Given the description of an element on the screen output the (x, y) to click on. 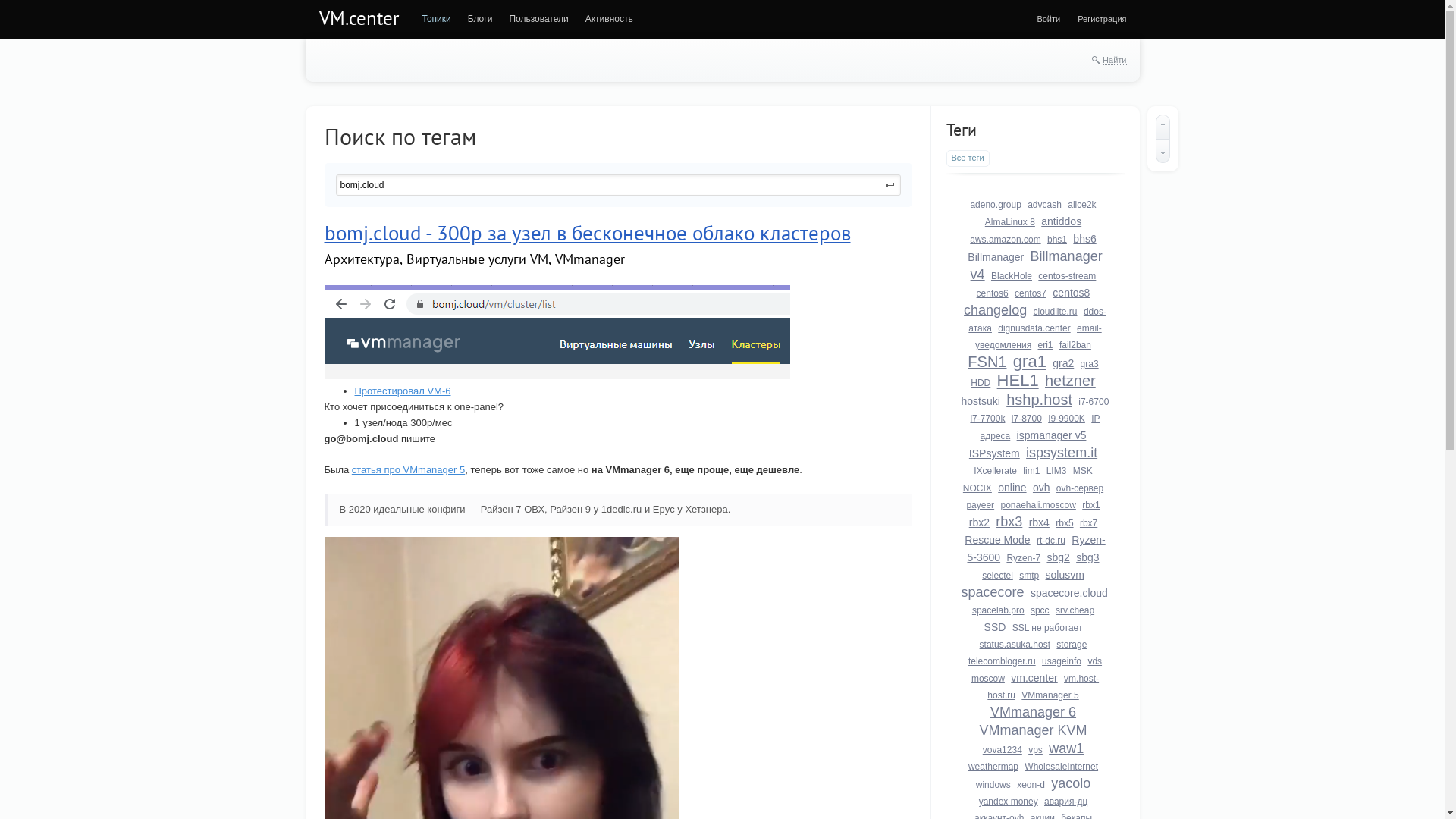
hostsuki Element type: text (980, 401)
hetzner Element type: text (1069, 380)
vps Element type: text (1035, 749)
vm.host-host.ru Element type: text (1042, 686)
rbx1 Element type: text (1090, 504)
vm.center Element type: text (1033, 677)
gra3 Element type: text (1089, 363)
rbx4 Element type: text (1039, 522)
selectel Element type: text (997, 575)
srv.cheap Element type: text (1074, 610)
centos8 Element type: text (1070, 292)
spacecore Element type: text (992, 591)
spacelab.pro Element type: text (998, 610)
alice2k Element type: text (1081, 204)
yacolo Element type: text (1070, 782)
bhs1 Element type: text (1056, 239)
HDD Element type: text (980, 382)
fail2ban Element type: text (1075, 344)
dignusdata.center Element type: text (1033, 328)
spcc Element type: text (1039, 610)
i7-6700 Element type: text (1093, 401)
i7-7700k Element type: text (986, 418)
ponaehali.moscow Element type: text (1037, 504)
windows Element type: text (992, 784)
Billmanager Element type: text (995, 257)
advcash Element type: text (1044, 204)
usageinfo Element type: text (1061, 660)
rbx7 Element type: text (1088, 522)
gra2 Element type: text (1062, 363)
rbx3 Element type: text (1008, 521)
AlmaLinux 8 Element type: text (1010, 221)
gra1 Element type: text (1029, 360)
Ryzen-7 Element type: text (1023, 557)
Rescue Mode Element type: text (996, 539)
sbg2 Element type: text (1057, 557)
payeer Element type: text (980, 504)
Ryzen-5-3600 Element type: text (1035, 548)
IXcellerate Element type: text (994, 470)
vova1234 Element type: text (1002, 749)
vds moscow Element type: text (1036, 669)
ispsystem.it Element type: text (1061, 452)
VMmanager KVM Element type: text (1032, 729)
lim1 Element type: text (1030, 470)
sbg3 Element type: text (1087, 557)
cloudlite.ru Element type: text (1054, 311)
WholesaleInternet Element type: text (1061, 766)
weathermap Element type: text (993, 766)
rbx2 Element type: text (979, 522)
rt-dc.ru Element type: text (1050, 540)
hshp.host Element type: text (1039, 399)
waw1 Element type: text (1065, 748)
ispmanager v5 Element type: text (1051, 435)
centos6 Element type: text (992, 293)
eri1 Element type: text (1045, 344)
smtp Element type: text (1028, 575)
online Element type: text (1011, 487)
status.asuka.host Element type: text (1014, 644)
BlackHole Element type: text (1011, 275)
adeno.group Element type: text (994, 204)
VMmanager Element type: text (589, 258)
aws.amazon.com Element type: text (1004, 239)
yandex money Element type: text (1008, 801)
solusvm Element type: text (1064, 574)
FSN1 Element type: text (986, 361)
VM.center Element type: text (358, 18)
VMmanager 6 Element type: text (1033, 711)
centos7 Element type: text (1030, 293)
storage Element type: text (1071, 644)
ISPsystem Element type: text (994, 453)
I9-9900K Element type: text (1066, 418)
bhs6 Element type: text (1084, 238)
HEL1 Element type: text (1017, 379)
MSK Element type: text (1082, 470)
i7-8700 Element type: text (1026, 418)
spacecore.cloud Element type: text (1068, 592)
antiddos Element type: text (1061, 221)
Billmanager v4 Element type: text (1036, 265)
telecombloger.ru Element type: text (1001, 660)
VMmanager 5 Element type: text (1049, 695)
changelog Element type: text (994, 309)
SSD Element type: text (995, 627)
centos-stream Element type: text (1066, 275)
rbx5 Element type: text (1064, 522)
NOCIX Element type: text (977, 488)
xeon-d Element type: text (1030, 784)
ovh Element type: text (1041, 487)
LIM3 Element type: text (1056, 470)
